Given the description of an element on the screen output the (x, y) to click on. 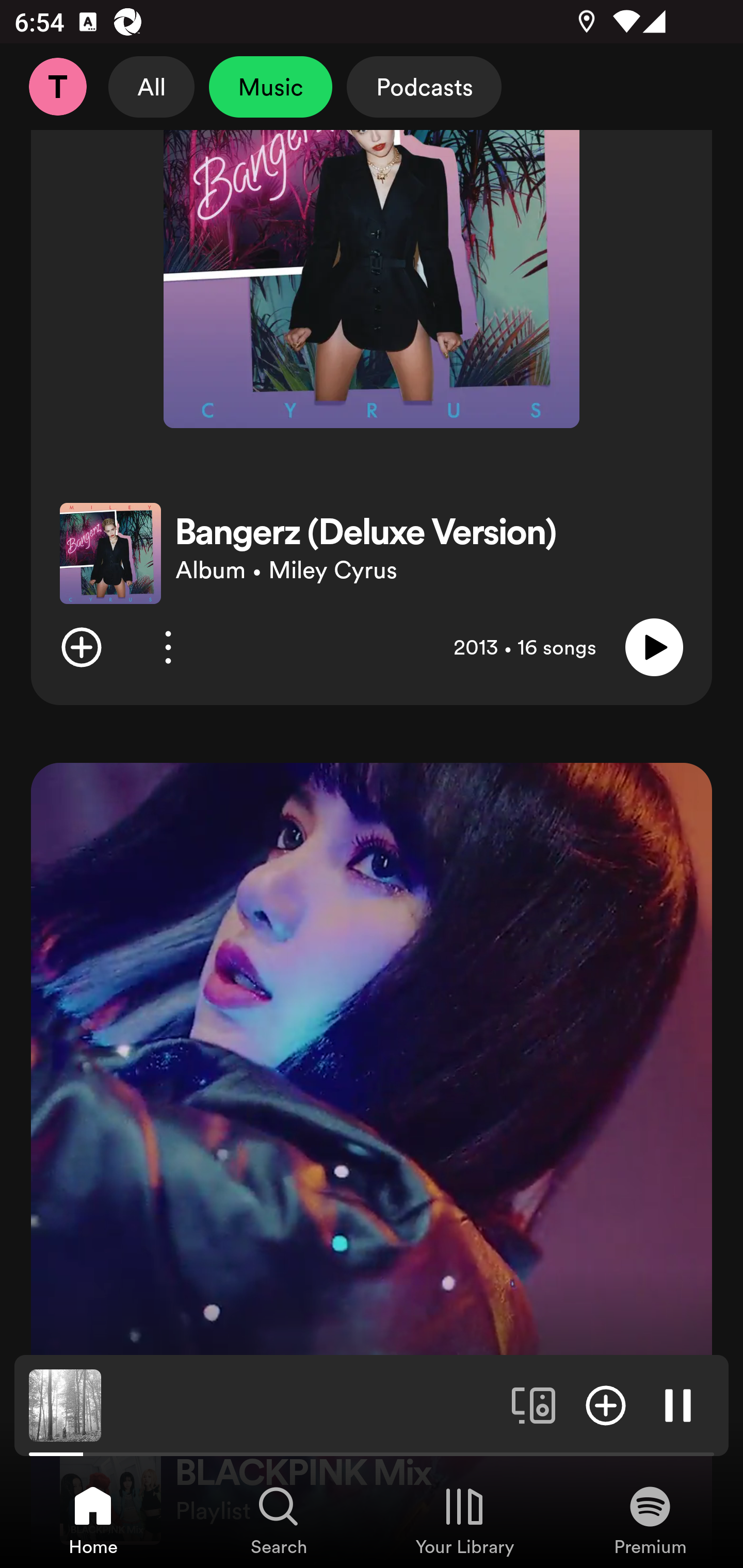
Profile (57, 86)
All Select All (151, 86)
Music Unselect Music (270, 86)
Podcasts Select Podcasts (423, 86)
Add item (80, 646)
Play (653, 646)
The cover art of the currently playing track (64, 1404)
Connect to a device. Opens the devices menu (533, 1404)
Add item (605, 1404)
Pause (677, 1404)
Home, Tab 1 of 4 Home Home (92, 1519)
Search, Tab 2 of 4 Search Search (278, 1519)
Your Library, Tab 3 of 4 Your Library Your Library (464, 1519)
Premium, Tab 4 of 4 Premium Premium (650, 1519)
